Given the description of an element on the screen output the (x, y) to click on. 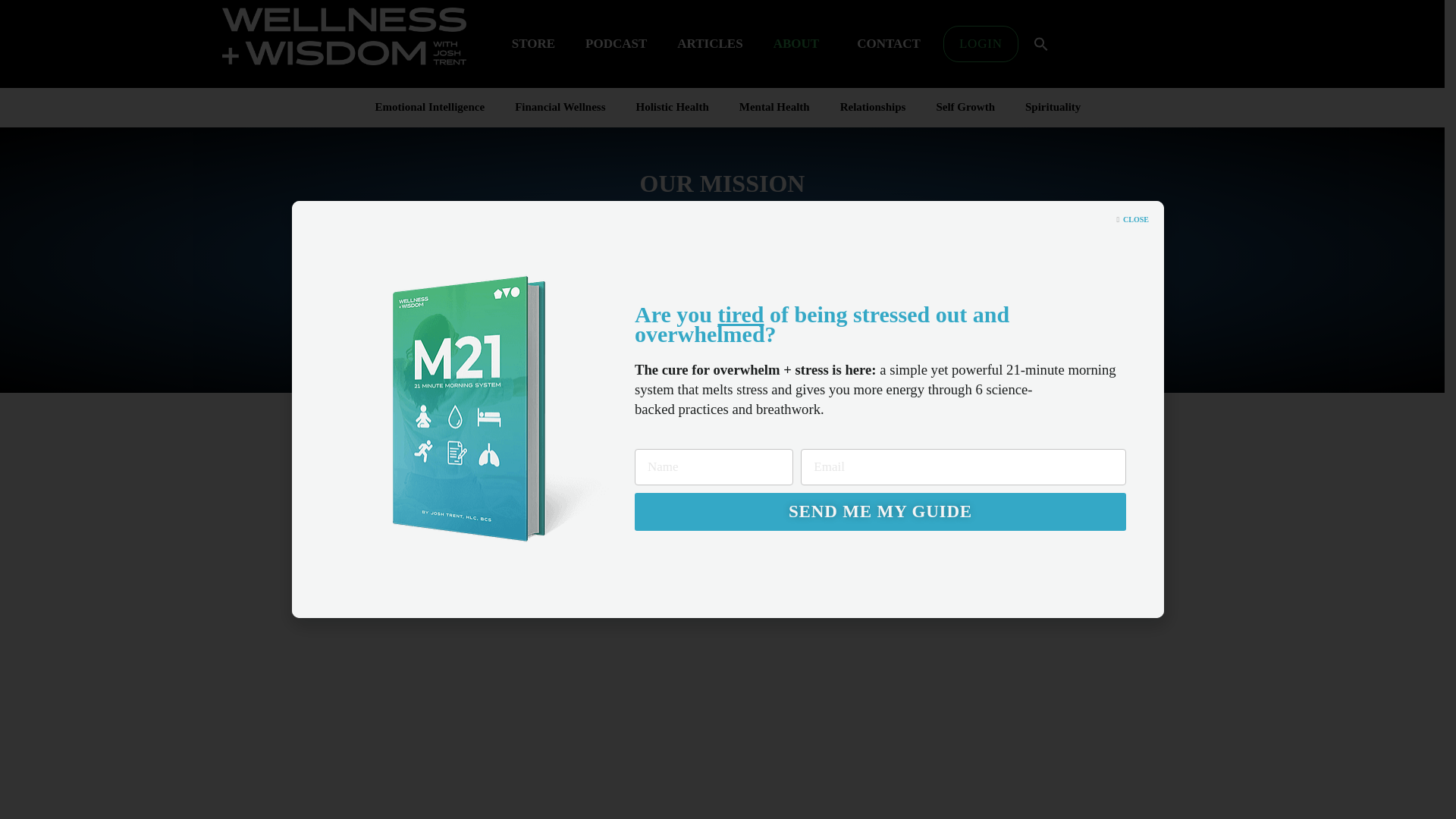
Wellness Wisdom White White (343, 36)
STORE (533, 43)
LOGIN (980, 43)
PODCAST (616, 43)
ARTICLES (709, 43)
CONTACT (892, 43)
ABOUT (799, 43)
